Given the description of an element on the screen output the (x, y) to click on. 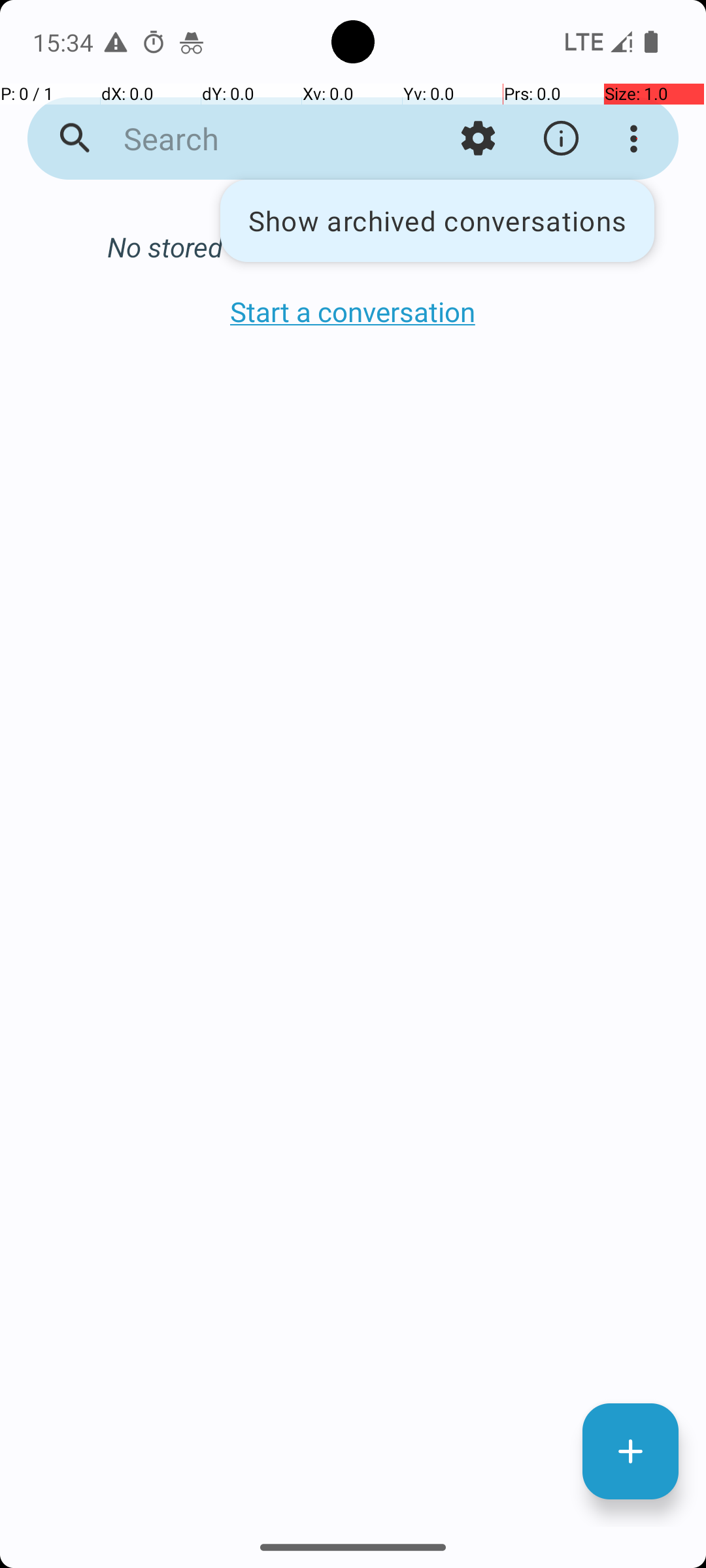
Show archived conversations Element type: android.widget.TextView (436, 220)
